Given the description of an element on the screen output the (x, y) to click on. 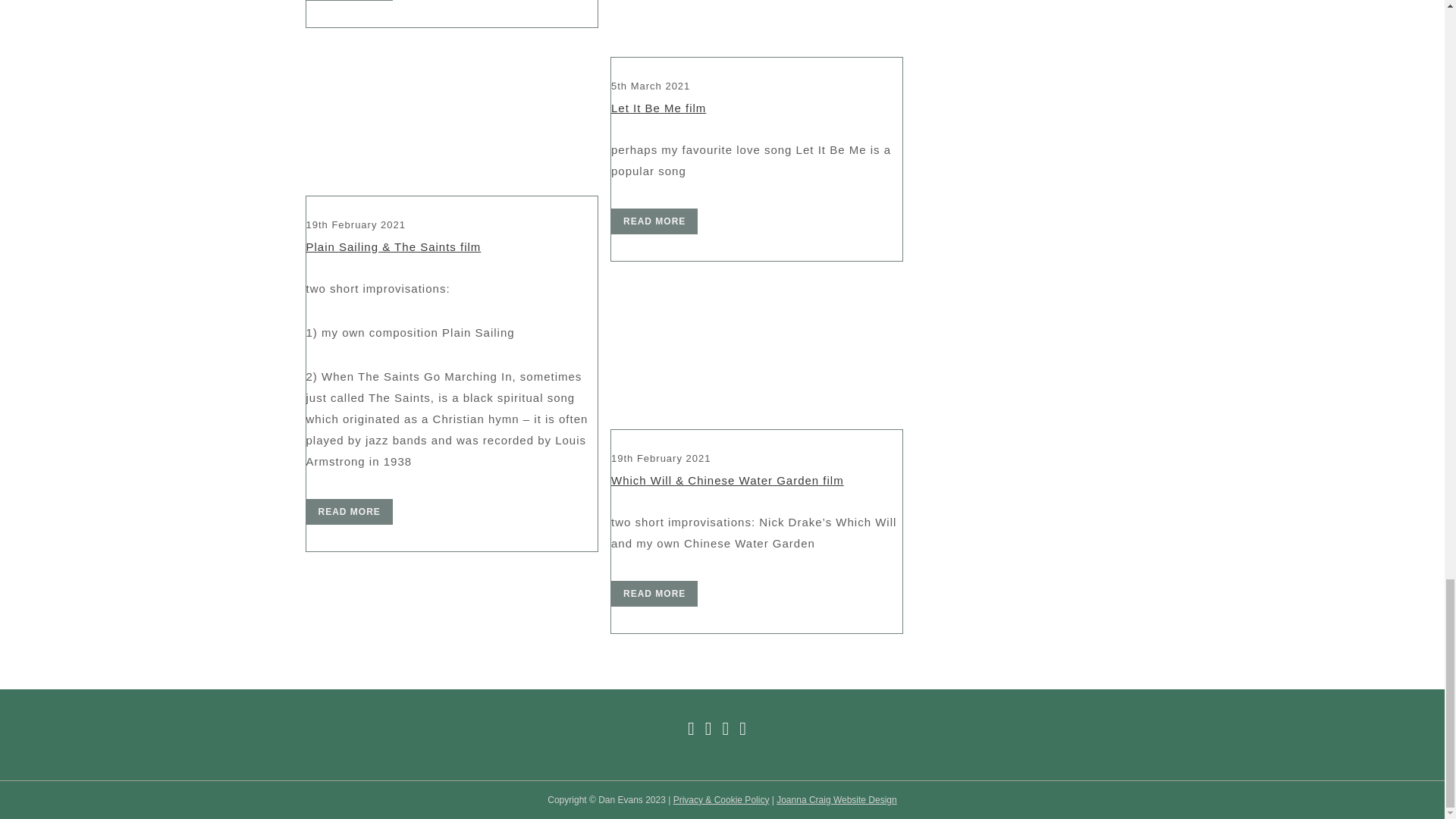
READ MORE (654, 221)
Let It Be Me film (658, 107)
